Given the description of an element on the screen output the (x, y) to click on. 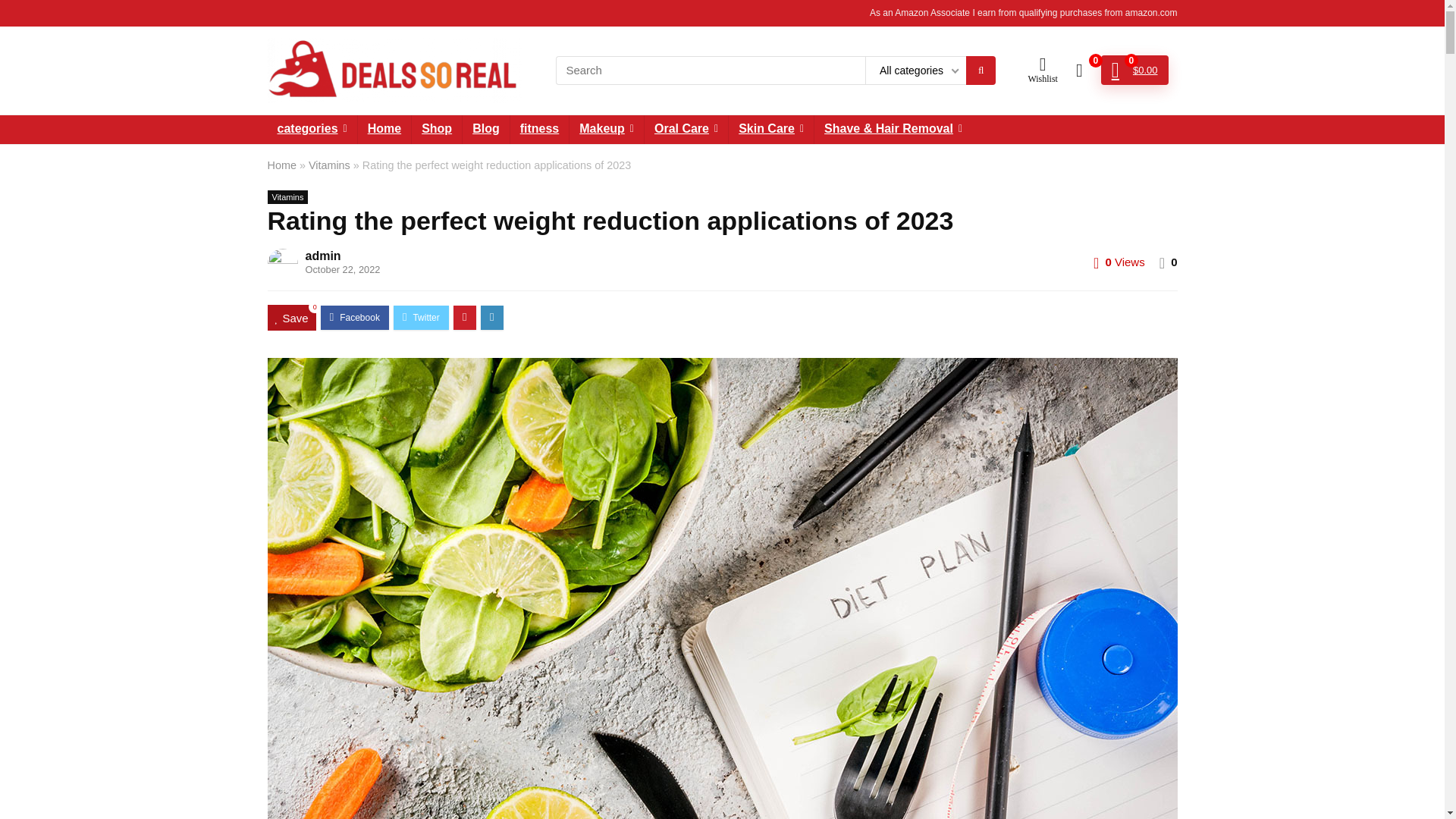
View all posts in Vitamins (286, 196)
categories (311, 129)
